Given the description of an element on the screen output the (x, y) to click on. 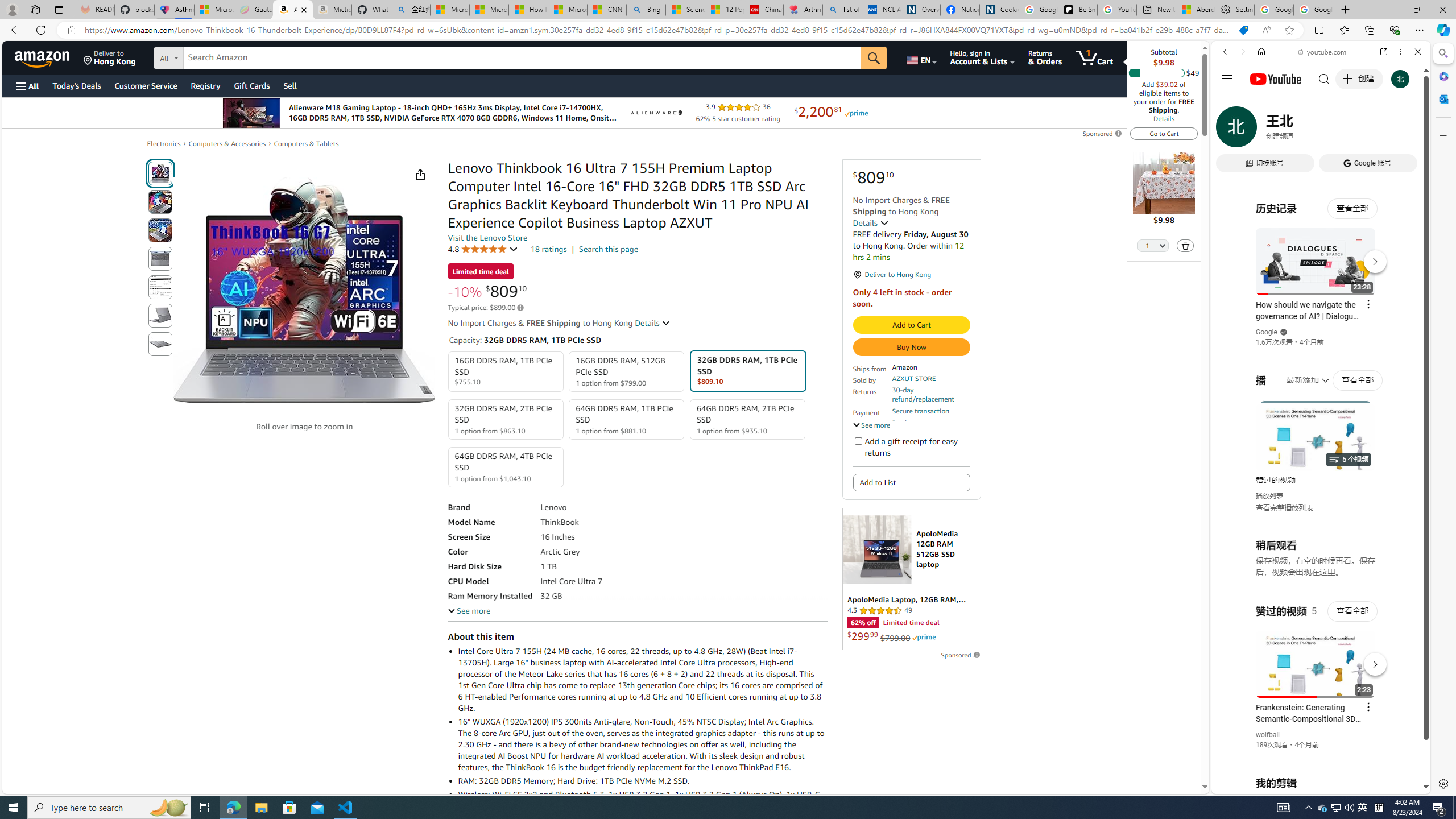
Secure transaction (920, 411)
Prime (923, 637)
Delete (1185, 245)
Details  (652, 322)
